Given the description of an element on the screen output the (x, y) to click on. 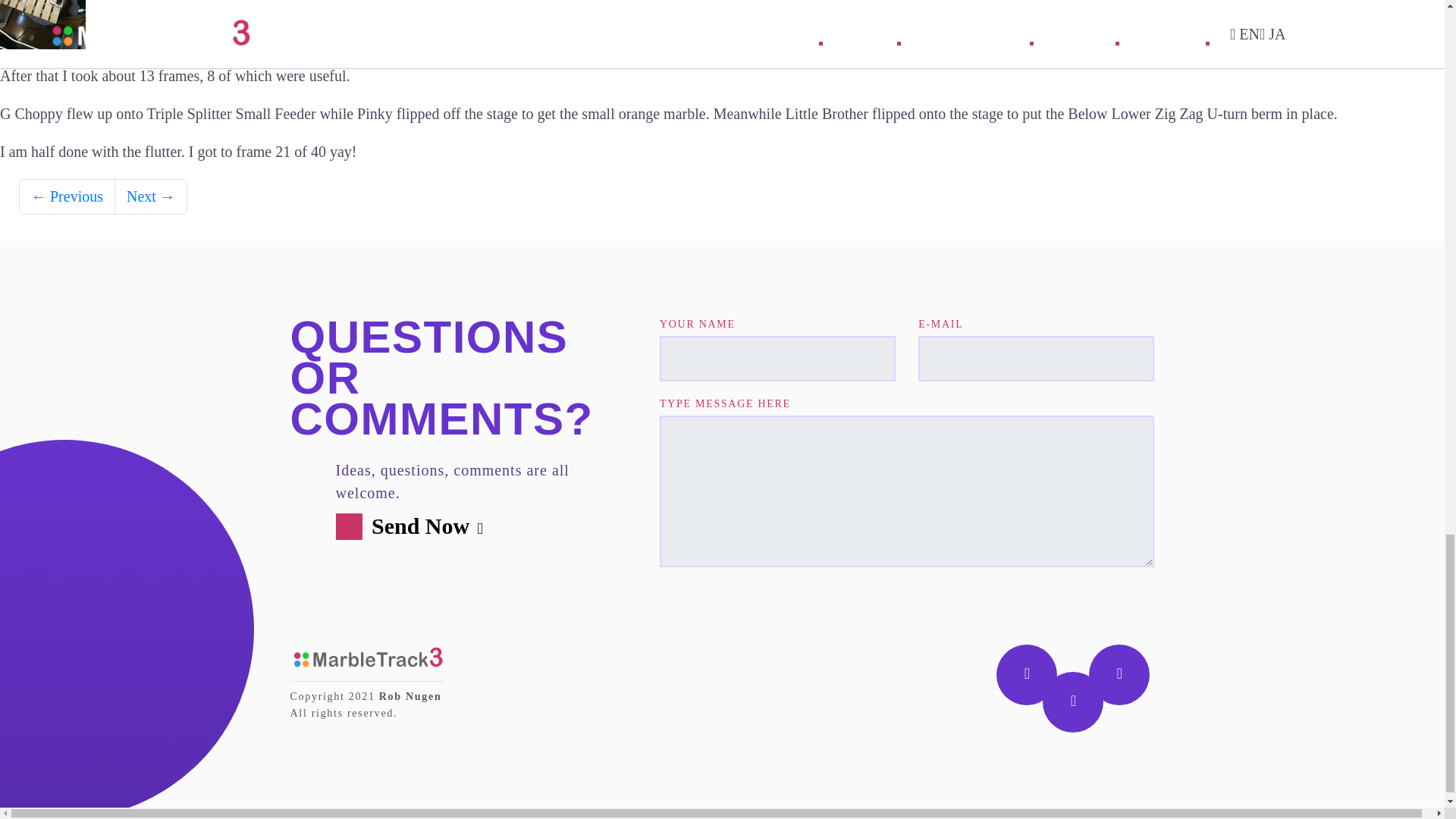
Triple Splitter Small Feeder (231, 113)
Below Lower Zig Zag U-turn (1157, 113)
G Choppy (31, 113)
Little Brother (826, 113)
Send Now (415, 526)
Rob Nugen (410, 696)
Pinky (374, 113)
